Given the description of an element on the screen output the (x, y) to click on. 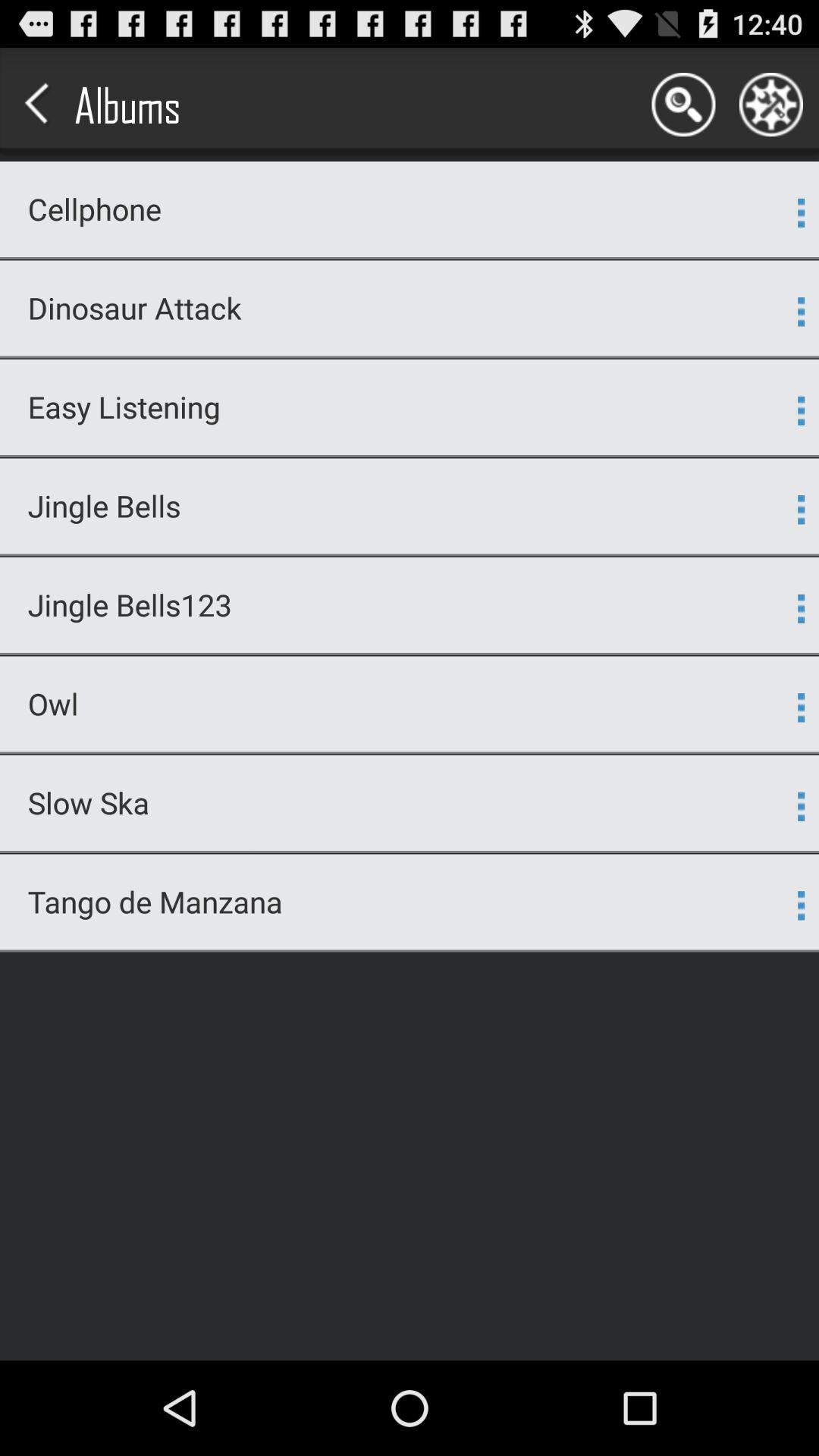
tap jingle bells app (400, 505)
